Given the description of an element on the screen output the (x, y) to click on. 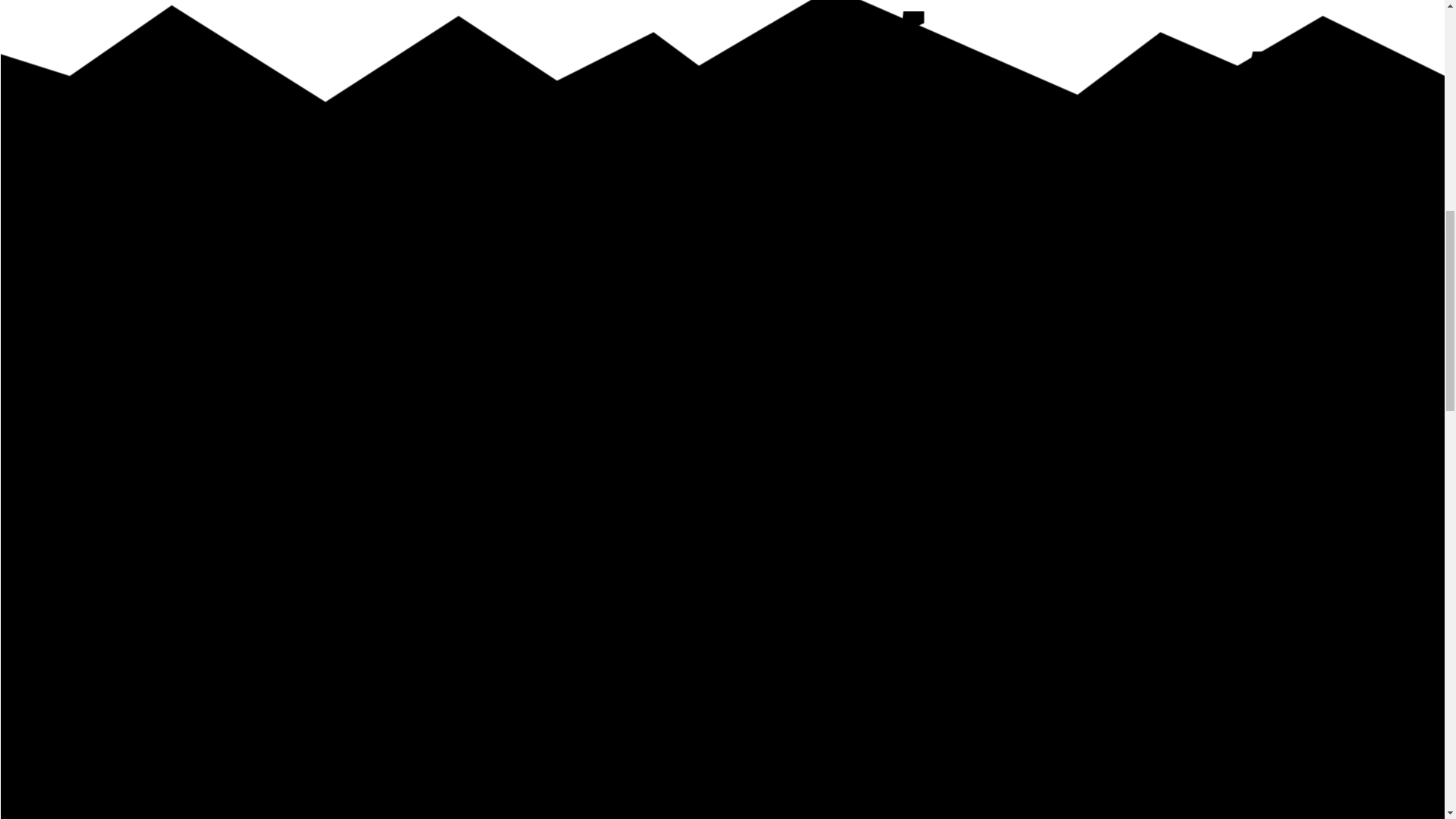
Explore Marketing services (72, 672)
Explore Videography services (78, 779)
Explore Videography services (78, 779)
Explore Web services (60, 564)
Explore Marketing services (72, 671)
Explore Web services (60, 563)
